Given the description of an element on the screen output the (x, y) to click on. 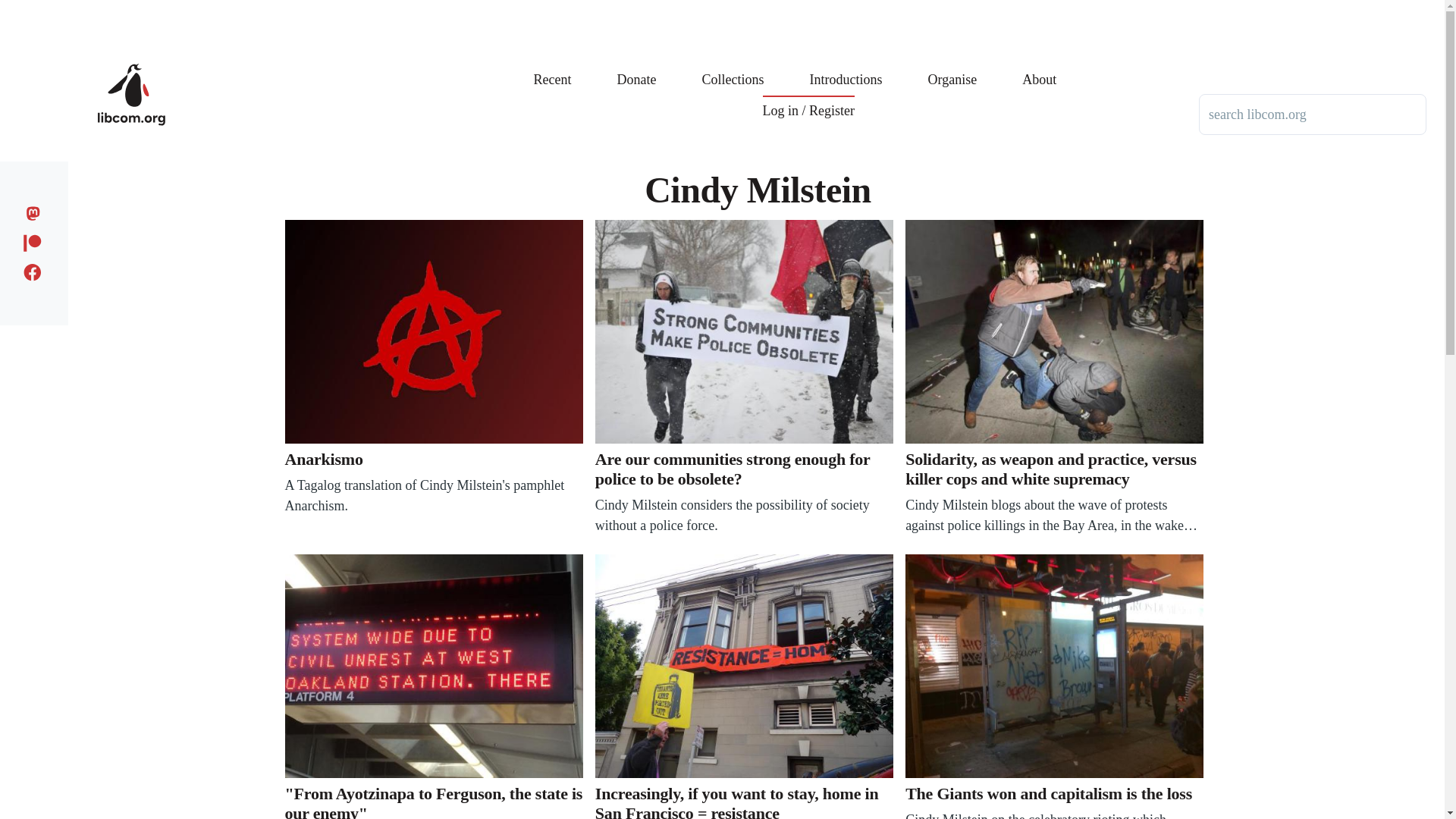
Skip to main content (595, 6)
Support us on patreon (36, 239)
Follow us on Mastodon (36, 210)
Introductions (845, 68)
Collections (732, 68)
Like us on facebook (36, 269)
Organise (952, 68)
